Given the description of an element on the screen output the (x, y) to click on. 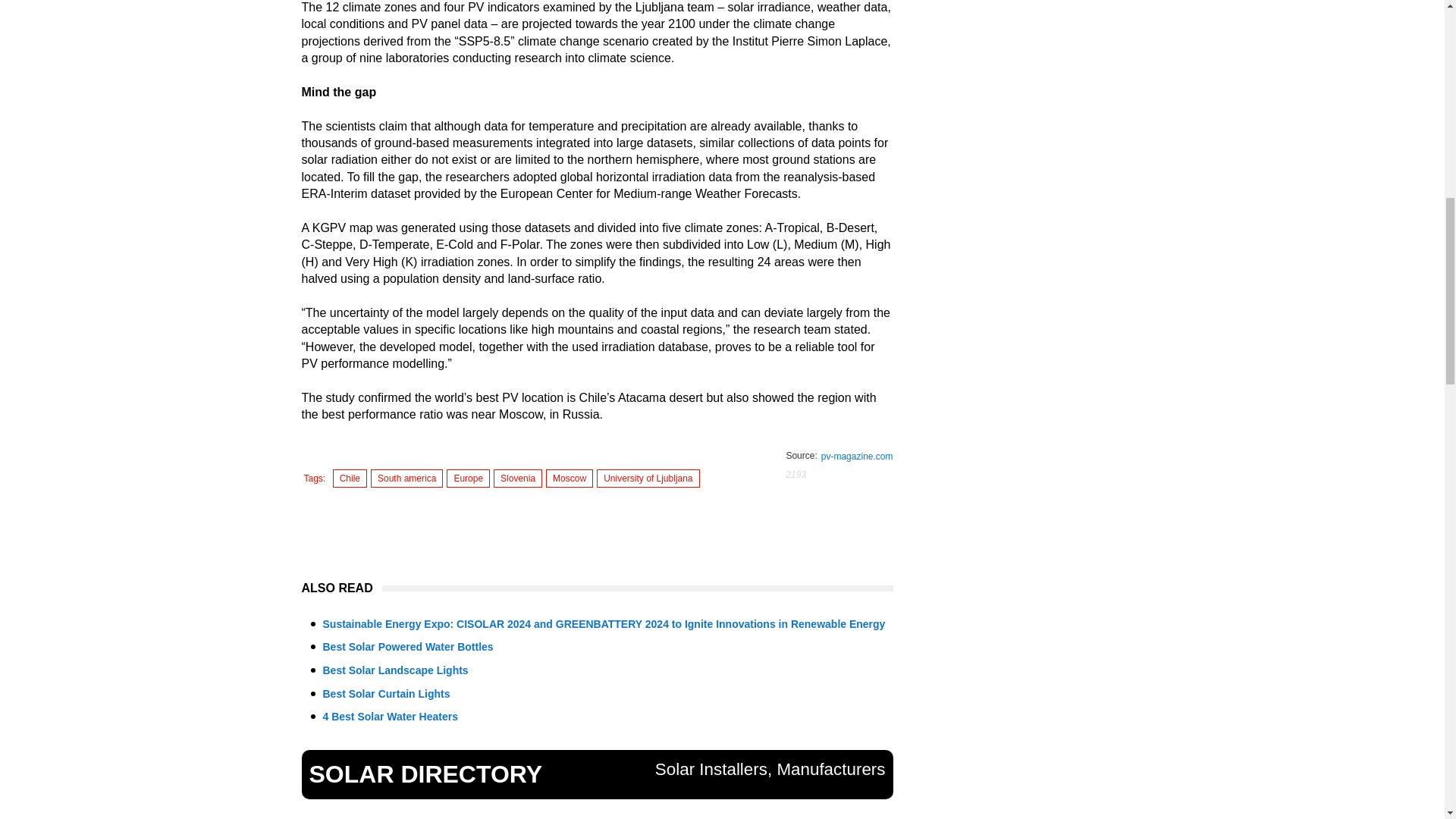
Best Solar Curtain Lights (386, 693)
Best Solar Powered Water Bottles (408, 646)
4 Best Solar Water Heaters (390, 716)
Best Solar Landscape Lights (395, 670)
